Given the description of an element on the screen output the (x, y) to click on. 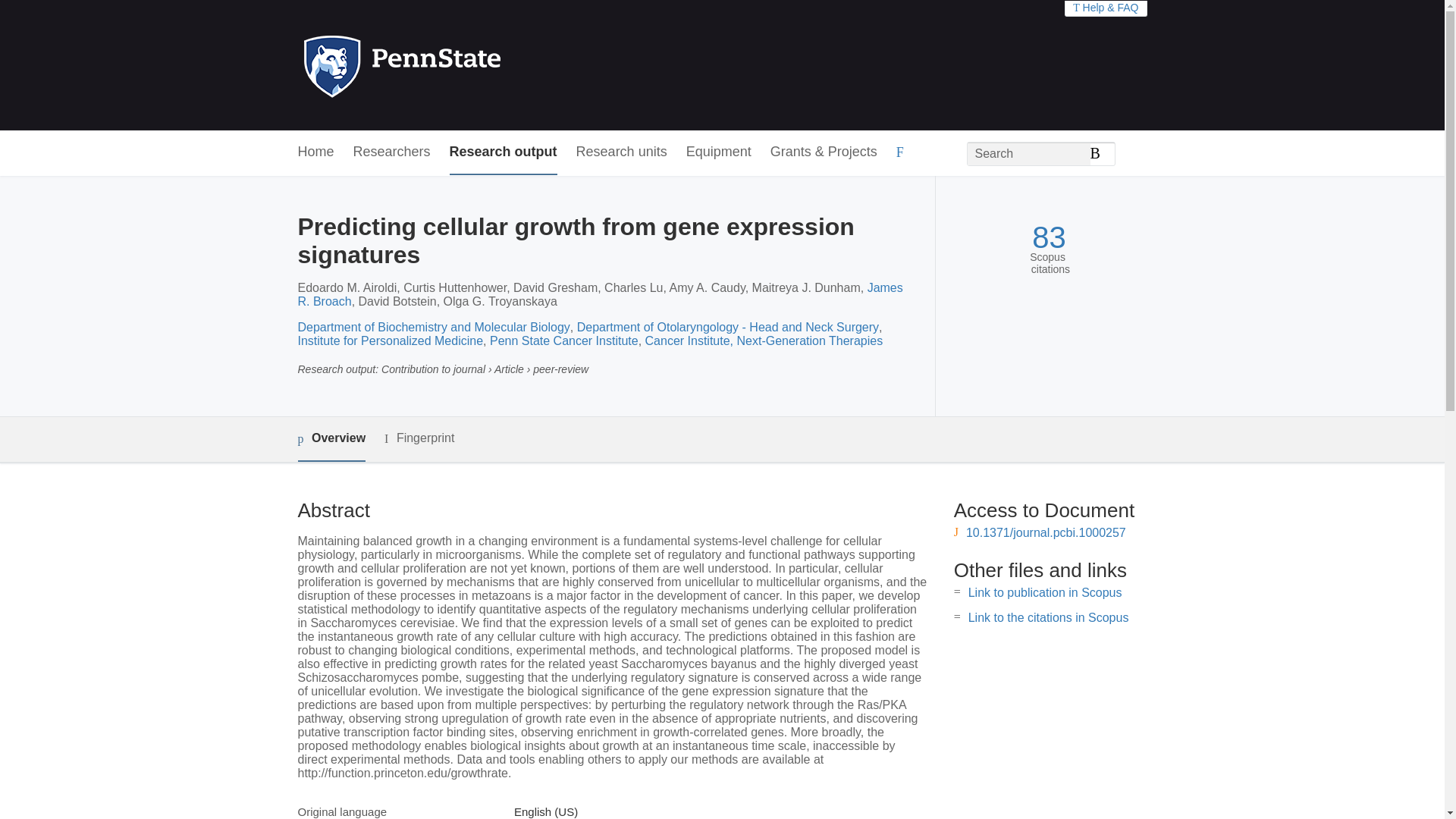
Link to the citations in Scopus (1048, 617)
Department of Biochemistry and Molecular Biology (433, 327)
Fingerprint (419, 438)
Link to publication in Scopus (1045, 592)
Penn State Cancer Institute (564, 340)
James R. Broach (599, 294)
Research units (621, 152)
Research output (503, 152)
Overview (331, 438)
